Given the description of an element on the screen output the (x, y) to click on. 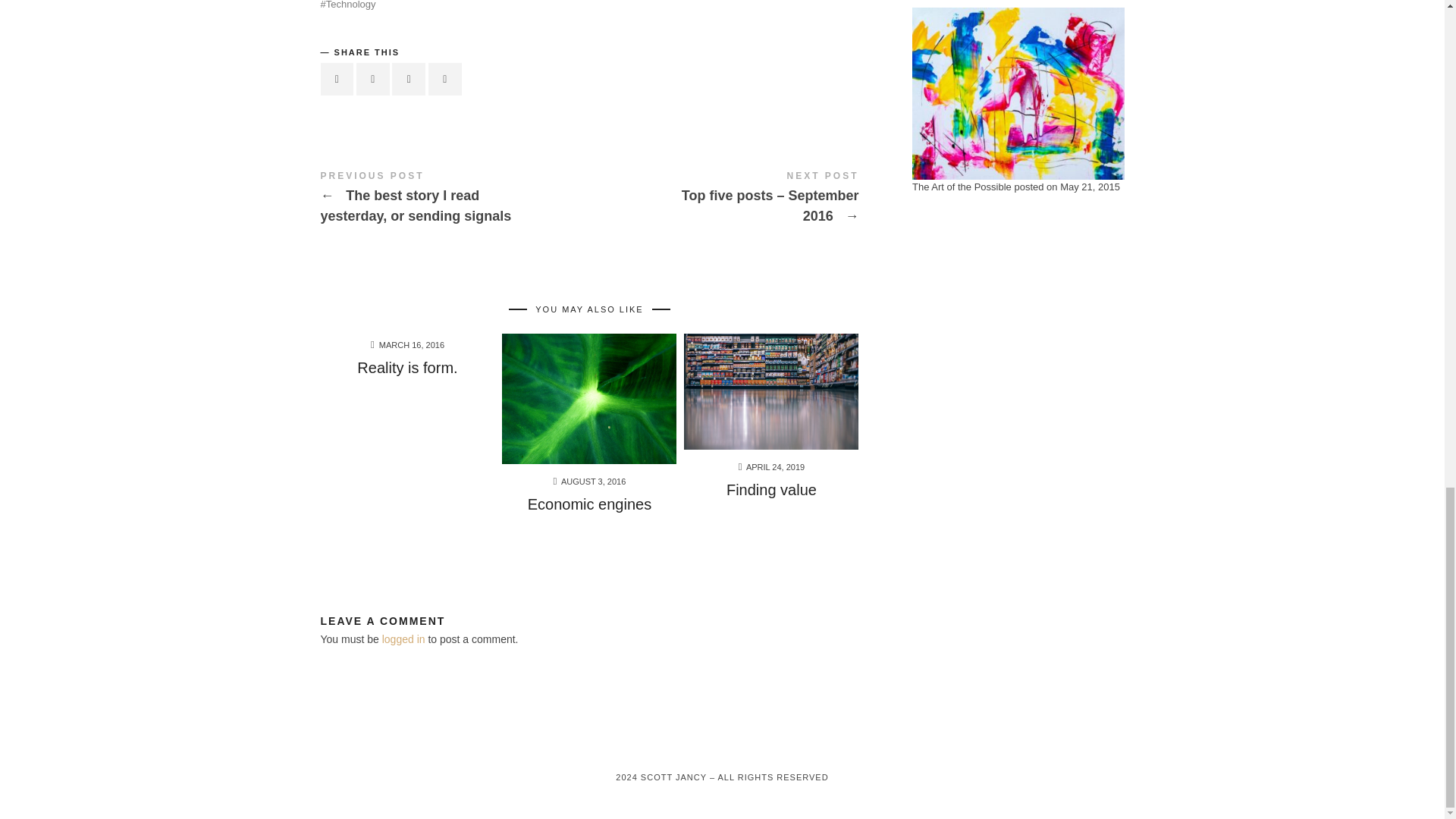
Pin it (408, 79)
Email this post to a friend (444, 79)
Share this post on Facebook (336, 79)
Tweet this post to your followers (373, 79)
